Given the description of an element on the screen output the (x, y) to click on. 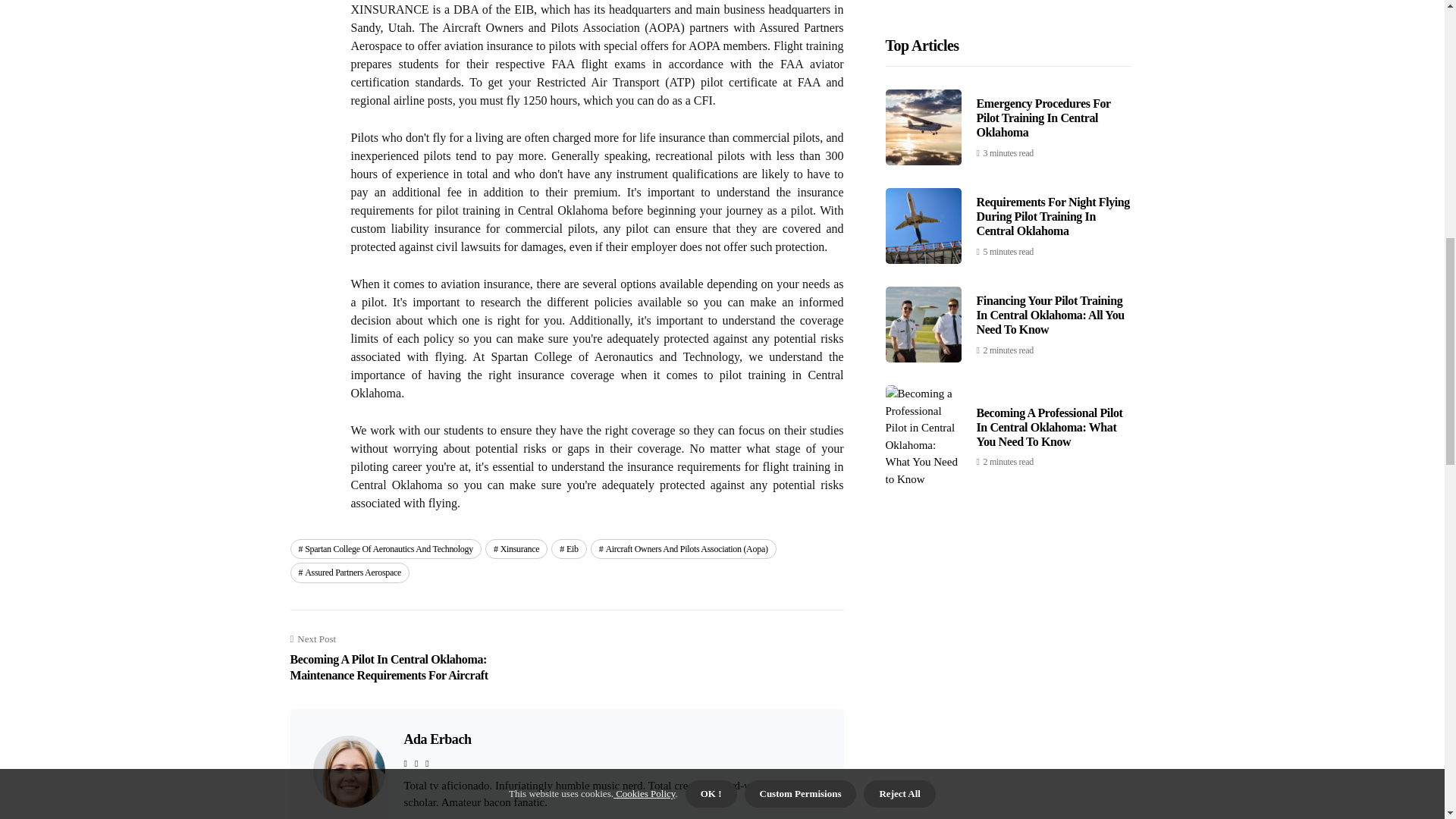
Eib (568, 548)
Ada Erbach (436, 739)
Assured Partners Aerospace (349, 572)
Spartan College Of Aeronautics And Technology (384, 548)
Xinsurance (515, 548)
